Given the description of an element on the screen output the (x, y) to click on. 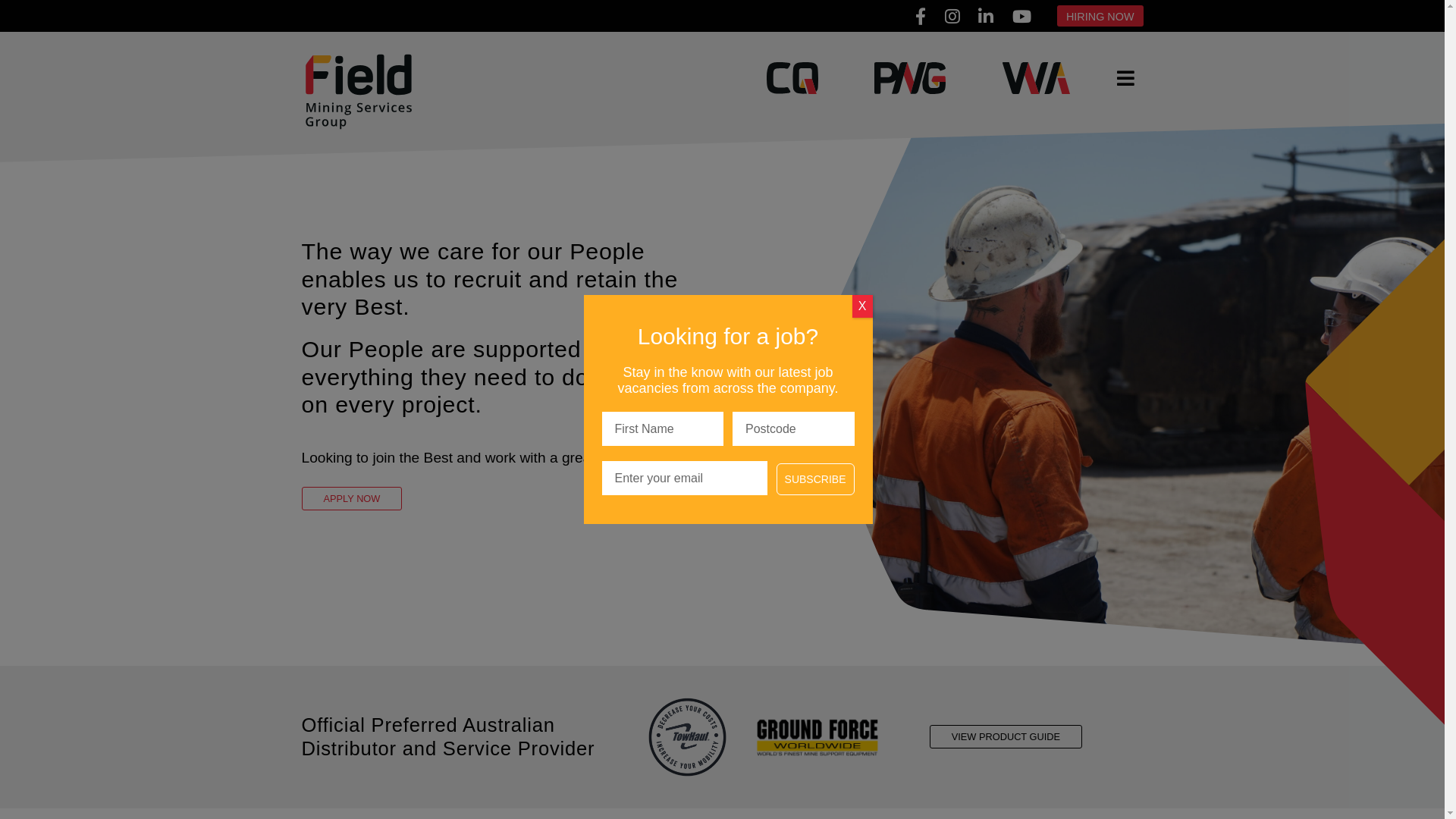
X Element type: text (862, 305)
HIRING NOW Element type: text (1100, 15)
APPLY NOW Element type: text (351, 498)
Submit Element type: text (32, 12)
SUBSCRIBE Element type: text (815, 479)
VIEW PRODUCT GUIDE Element type: text (1005, 736)
